Given the description of an element on the screen output the (x, y) to click on. 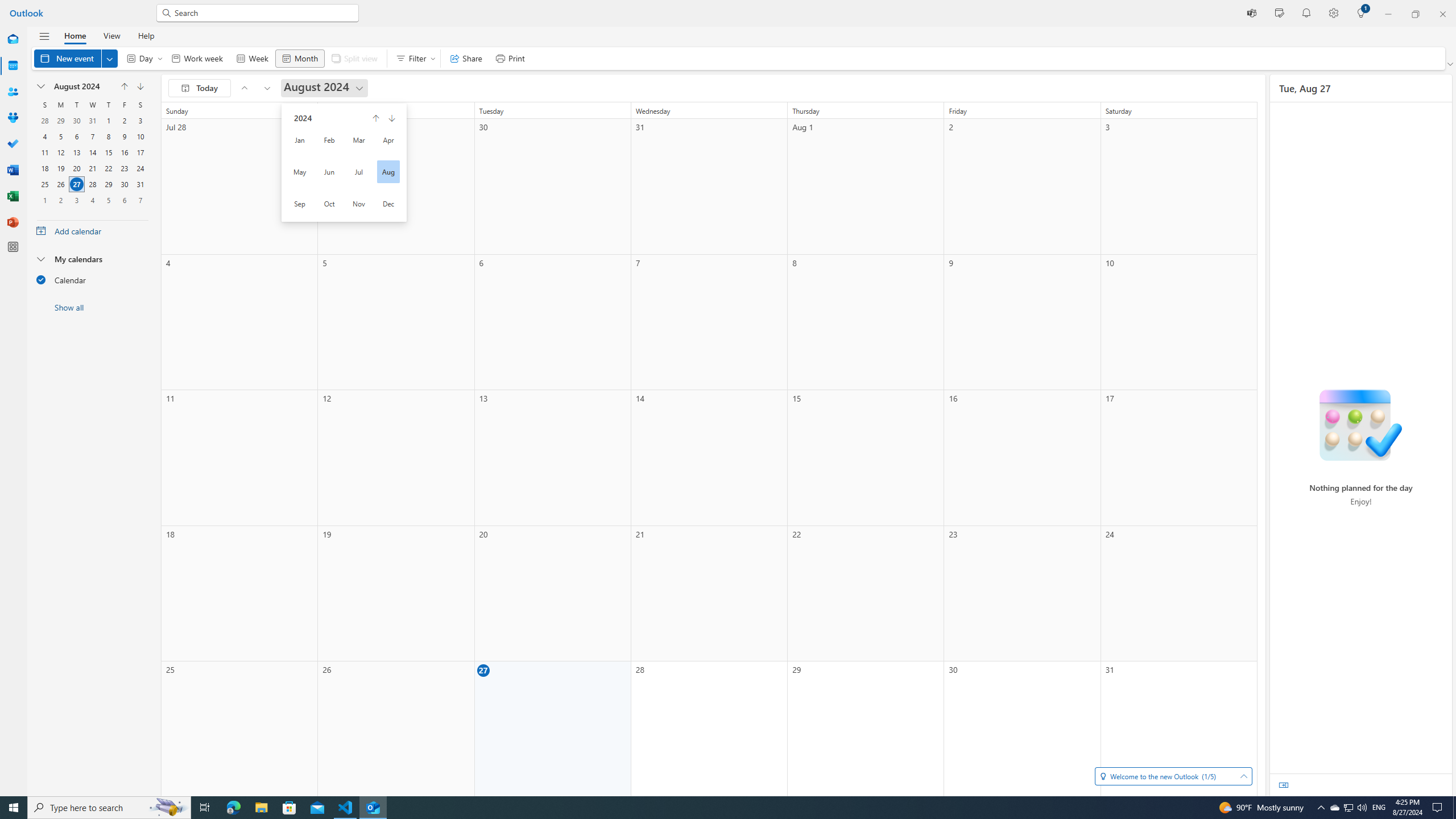
31, July, 2024 (92, 120)
Date selector (41, 86)
9, August, 2024 (124, 136)
Expand to see more New options (109, 58)
